Given the description of an element on the screen output the (x, y) to click on. 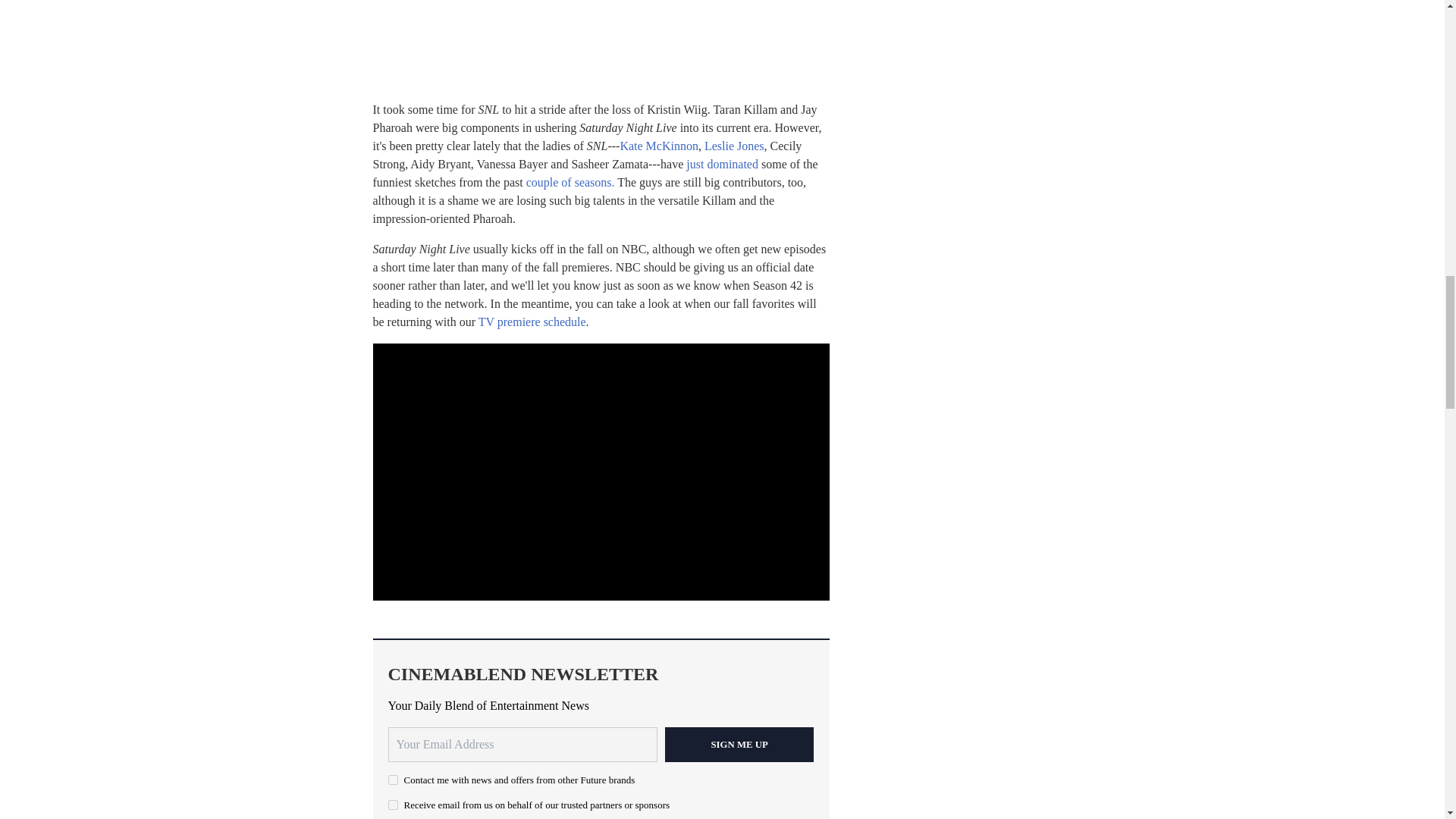
on (392, 804)
Sign me up (739, 744)
on (392, 779)
